Given the description of an element on the screen output the (x, y) to click on. 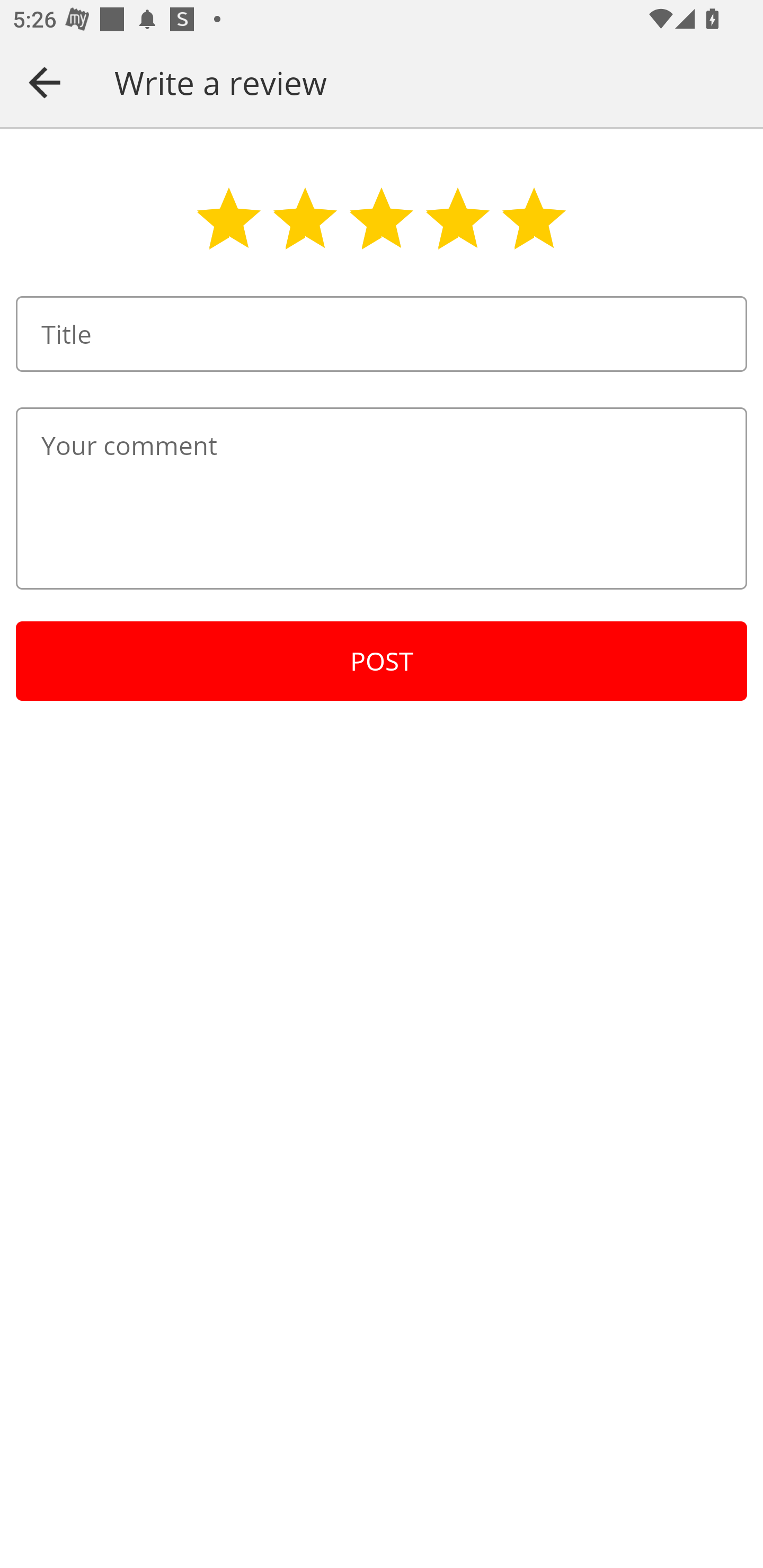
Navigate up (44, 82)
Title (381, 333)
Your comment (381, 498)
POST (381, 660)
